Given the description of an element on the screen output the (x, y) to click on. 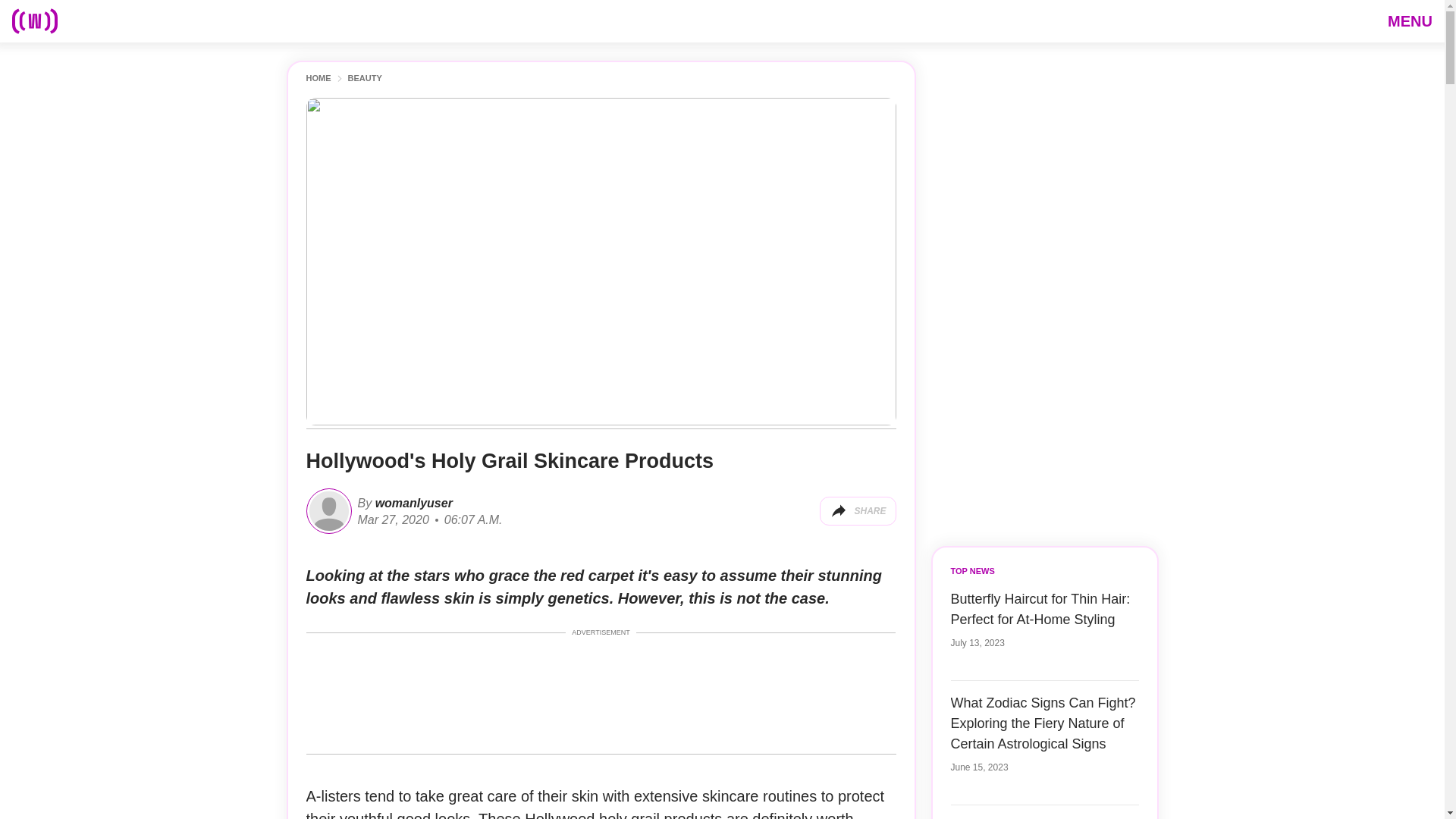
HOME (318, 78)
womanlyuser (411, 502)
MENU (1409, 20)
SHARE (857, 510)
BEAUTY (364, 78)
